Given the description of an element on the screen output the (x, y) to click on. 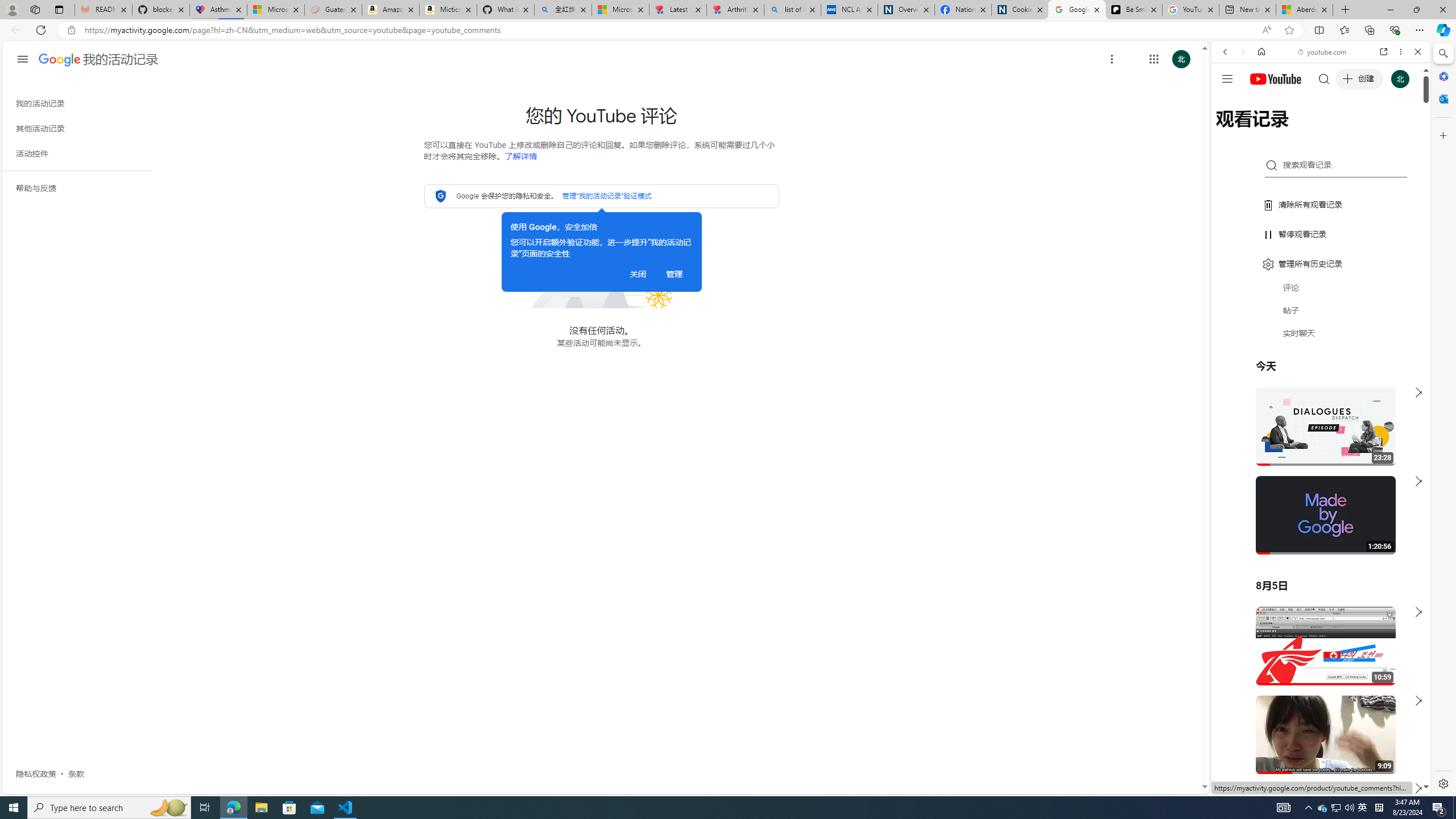
Cookies (1019, 9)
Aberdeen, Hong Kong SAR hourly forecast | Microsoft Weather (1304, 9)
Music (1320, 309)
Music (1320, 309)
YouTube - YouTube (1315, 560)
